Given the description of an element on the screen output the (x, y) to click on. 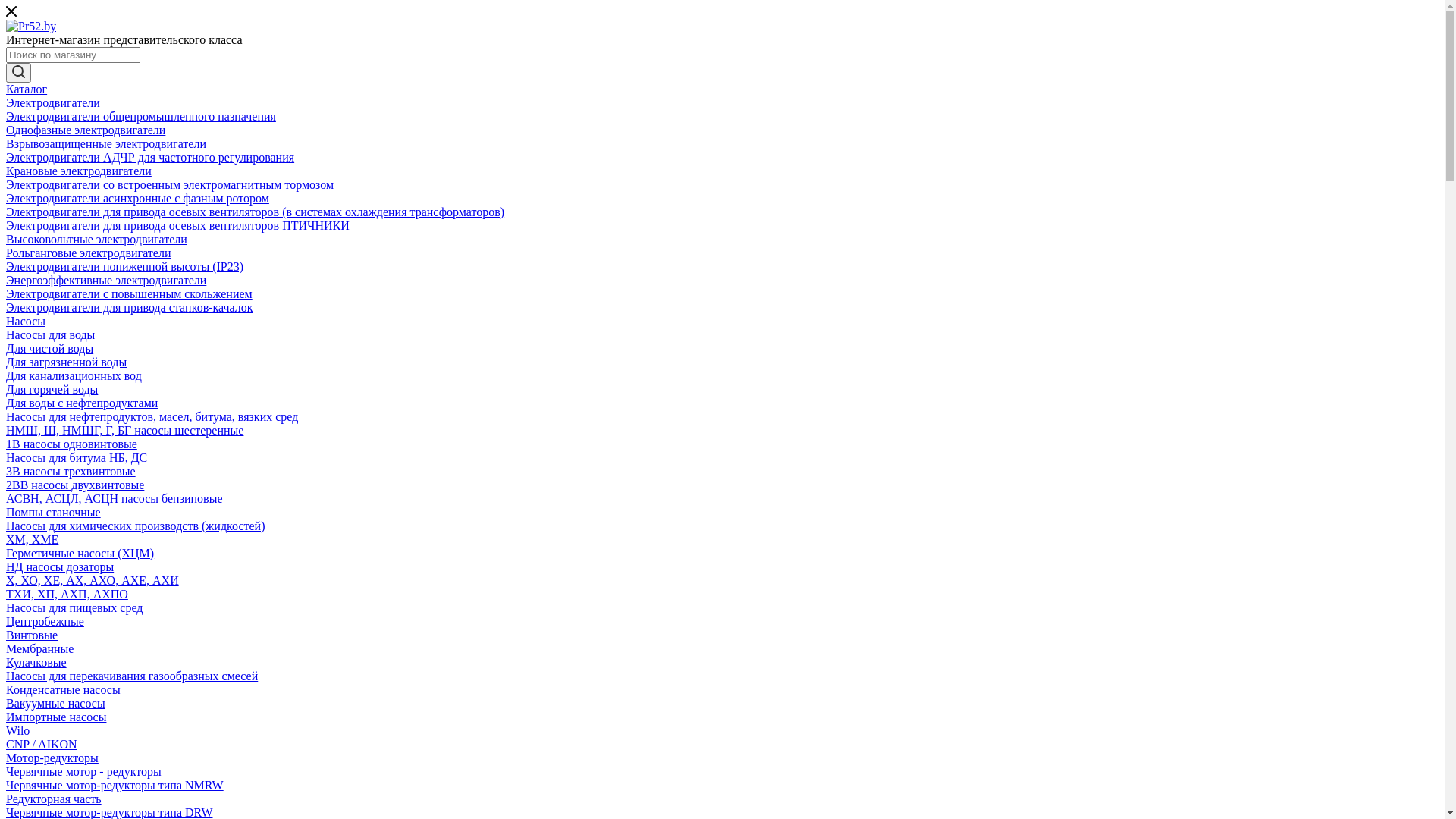
Wilo Element type: text (17, 730)
Pr52.by Element type: hover (31, 26)
CNP / AIKON Element type: text (41, 743)
